Given the description of an element on the screen output the (x, y) to click on. 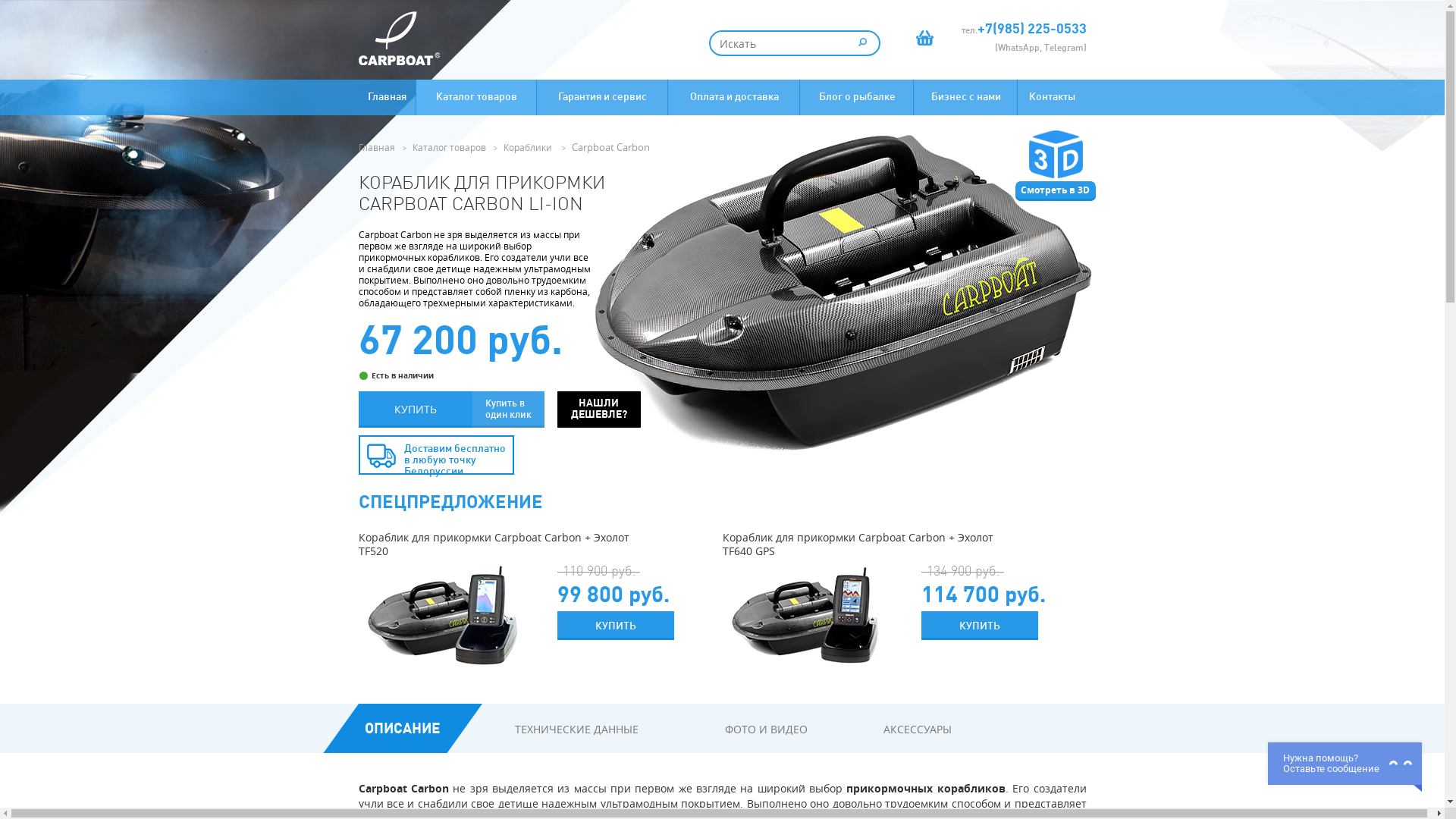
Logo Element type: hover (398, 38)
  Element type: text (862, 40)
